Given the description of an element on the screen output the (x, y) to click on. 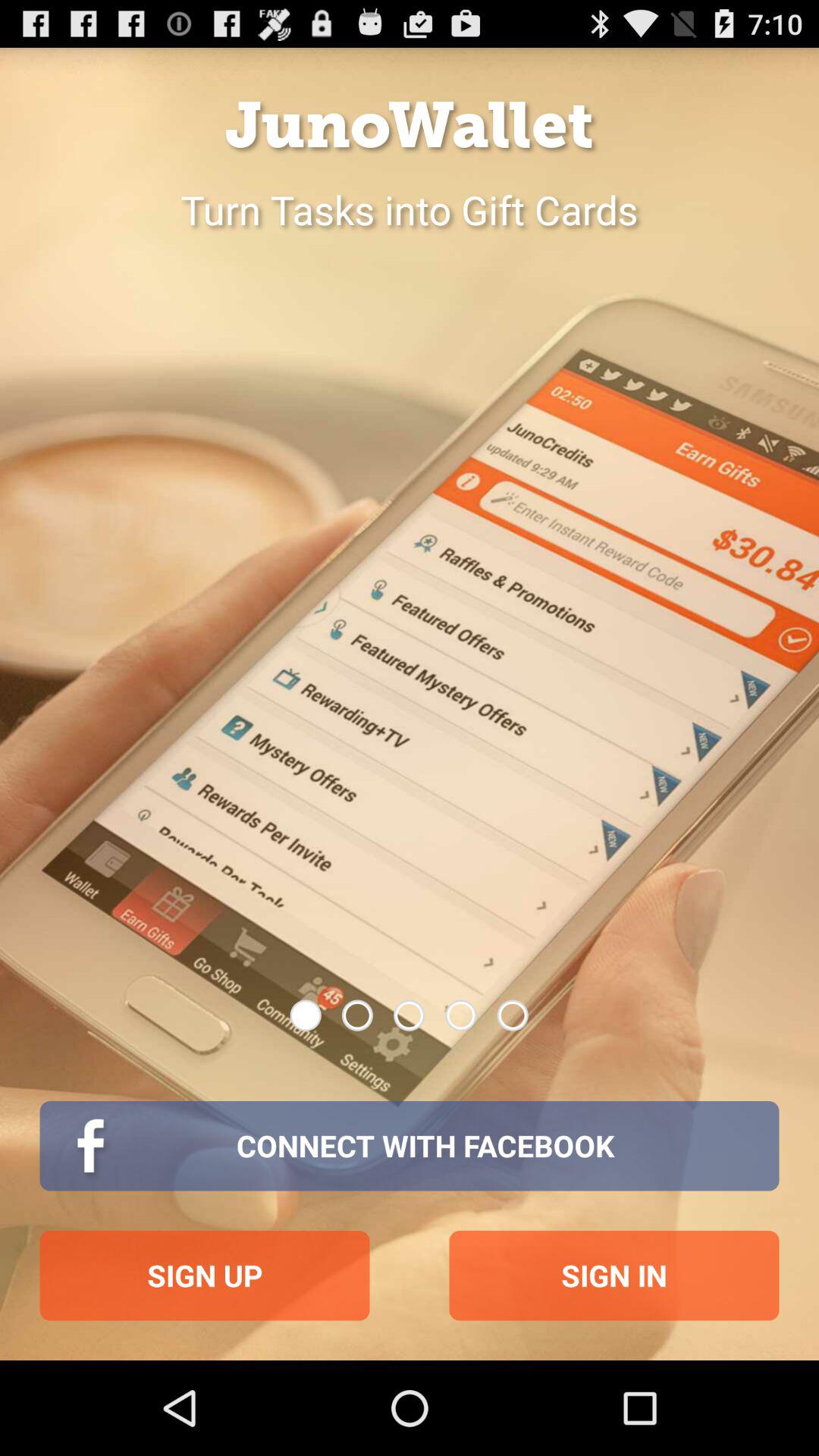
press icon at the bottom left corner (204, 1275)
